Given the description of an element on the screen output the (x, y) to click on. 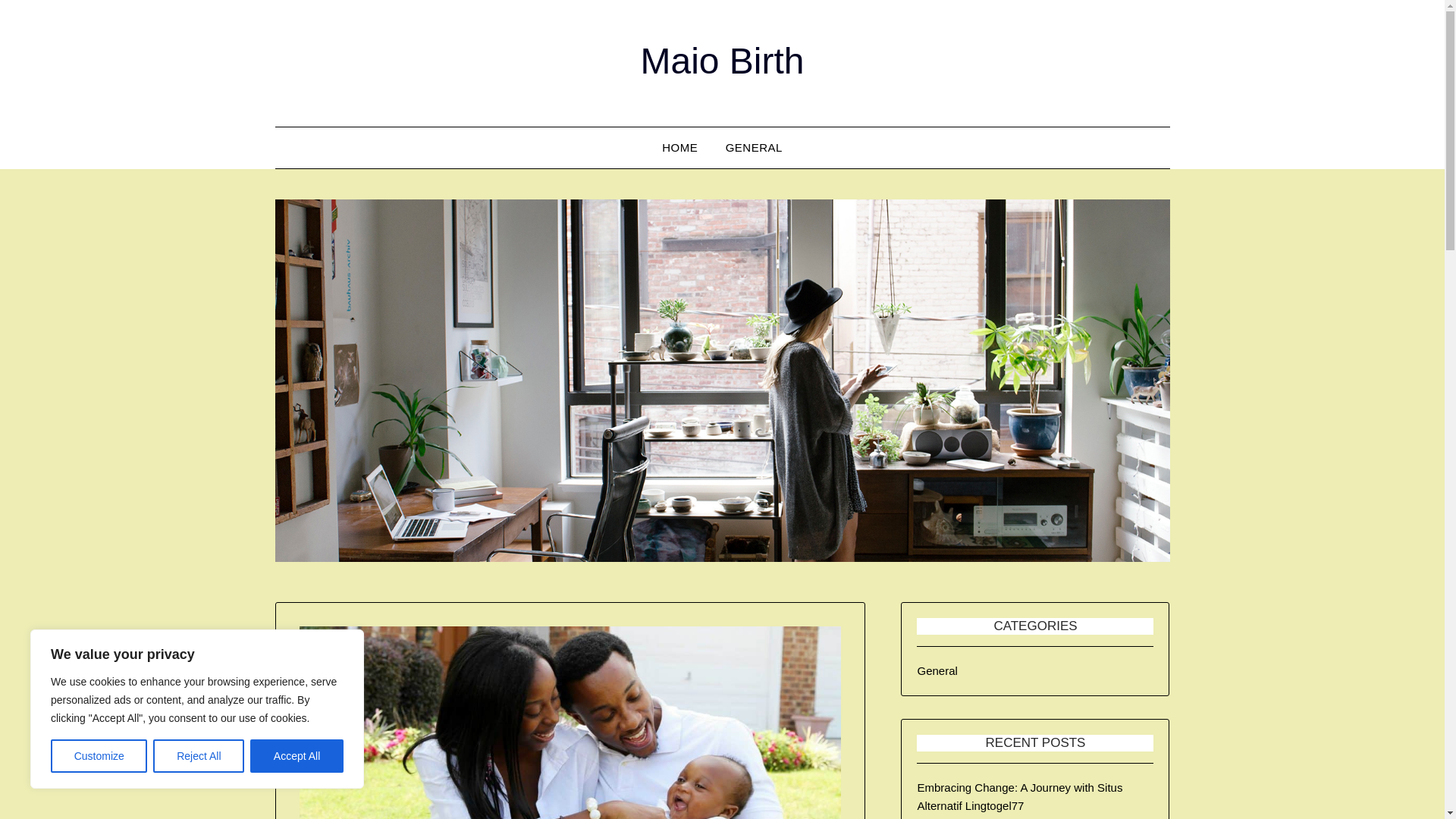
HOME (679, 147)
Maio Birth (721, 60)
Reject All (198, 756)
GENERAL (753, 147)
Accept All (296, 756)
Customize (98, 756)
General (936, 670)
